Given the description of an element on the screen output the (x, y) to click on. 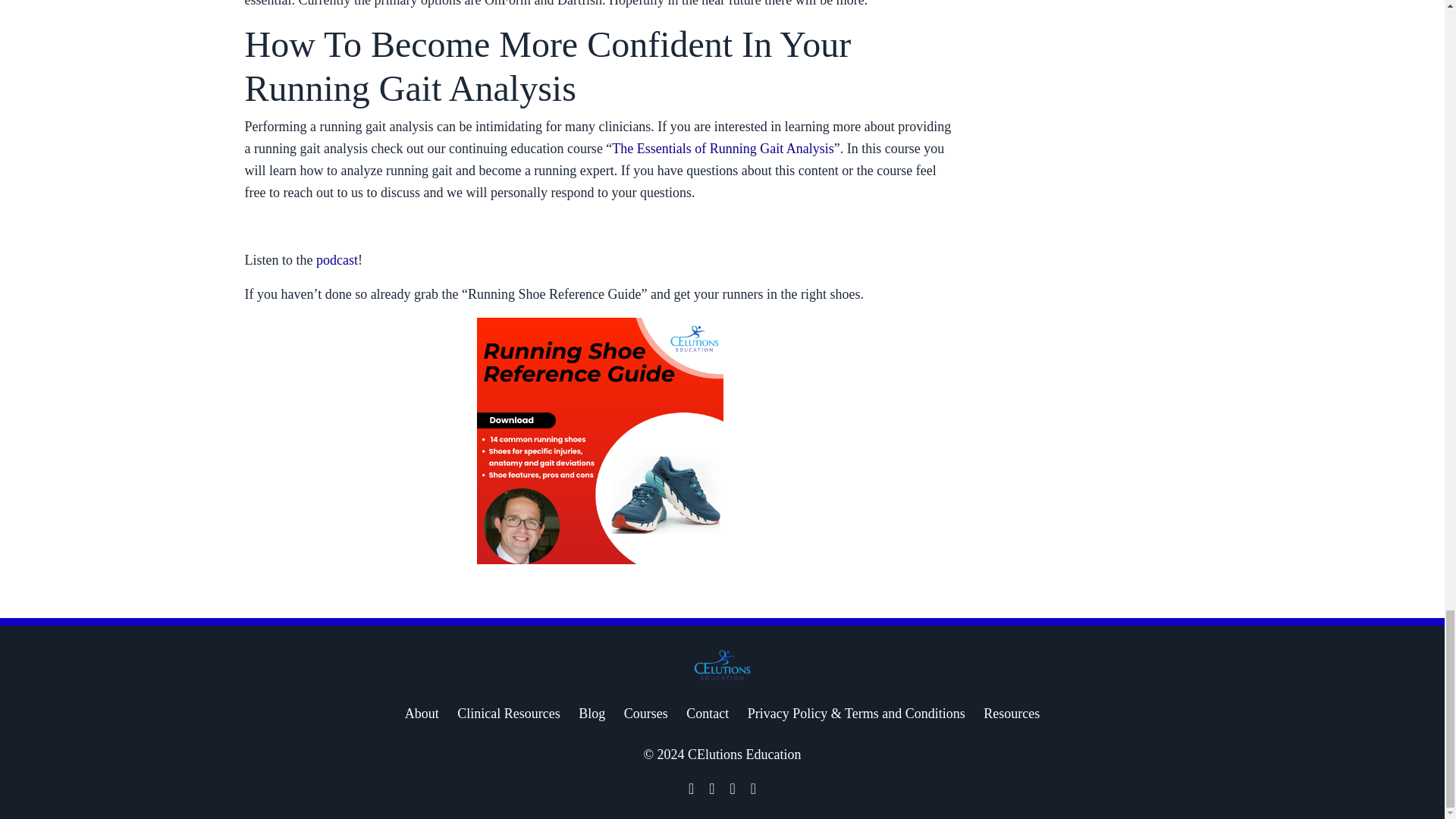
Blog (591, 713)
Resources (1011, 713)
The Essentials of Running Gait Analysis (721, 148)
About (421, 713)
podcast (336, 259)
Clinical Resources (508, 713)
Courses (646, 713)
Contact (707, 713)
